Given the description of an element on the screen output the (x, y) to click on. 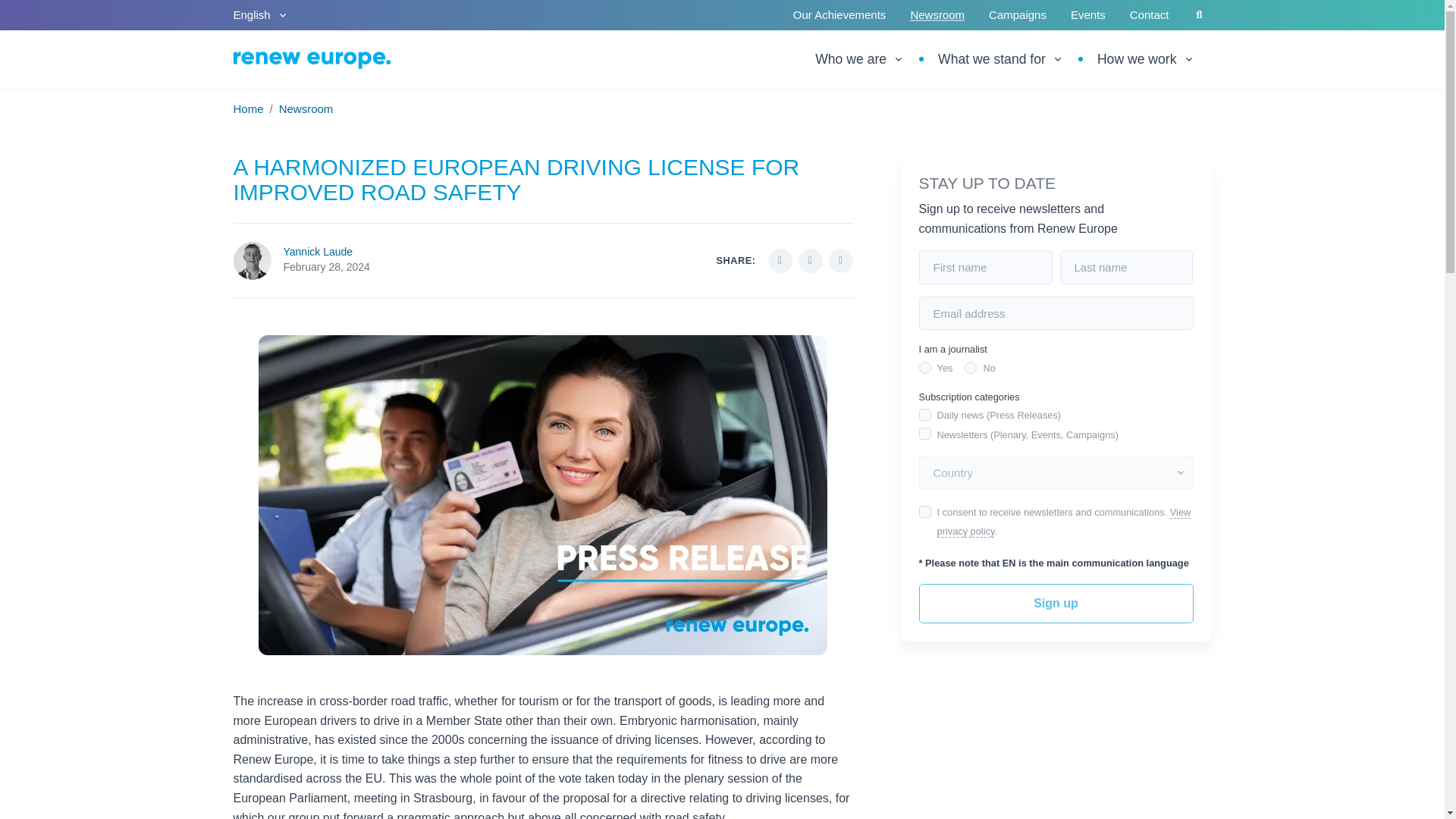
Search (1199, 15)
Contact (1149, 14)
Newsroom (937, 14)
English (260, 14)
What we stand for (1000, 58)
Newsroom (306, 108)
Yannick Laude (318, 251)
Campaigns (1017, 14)
Who we are (868, 58)
How we work (1145, 58)
